Given the description of an element on the screen output the (x, y) to click on. 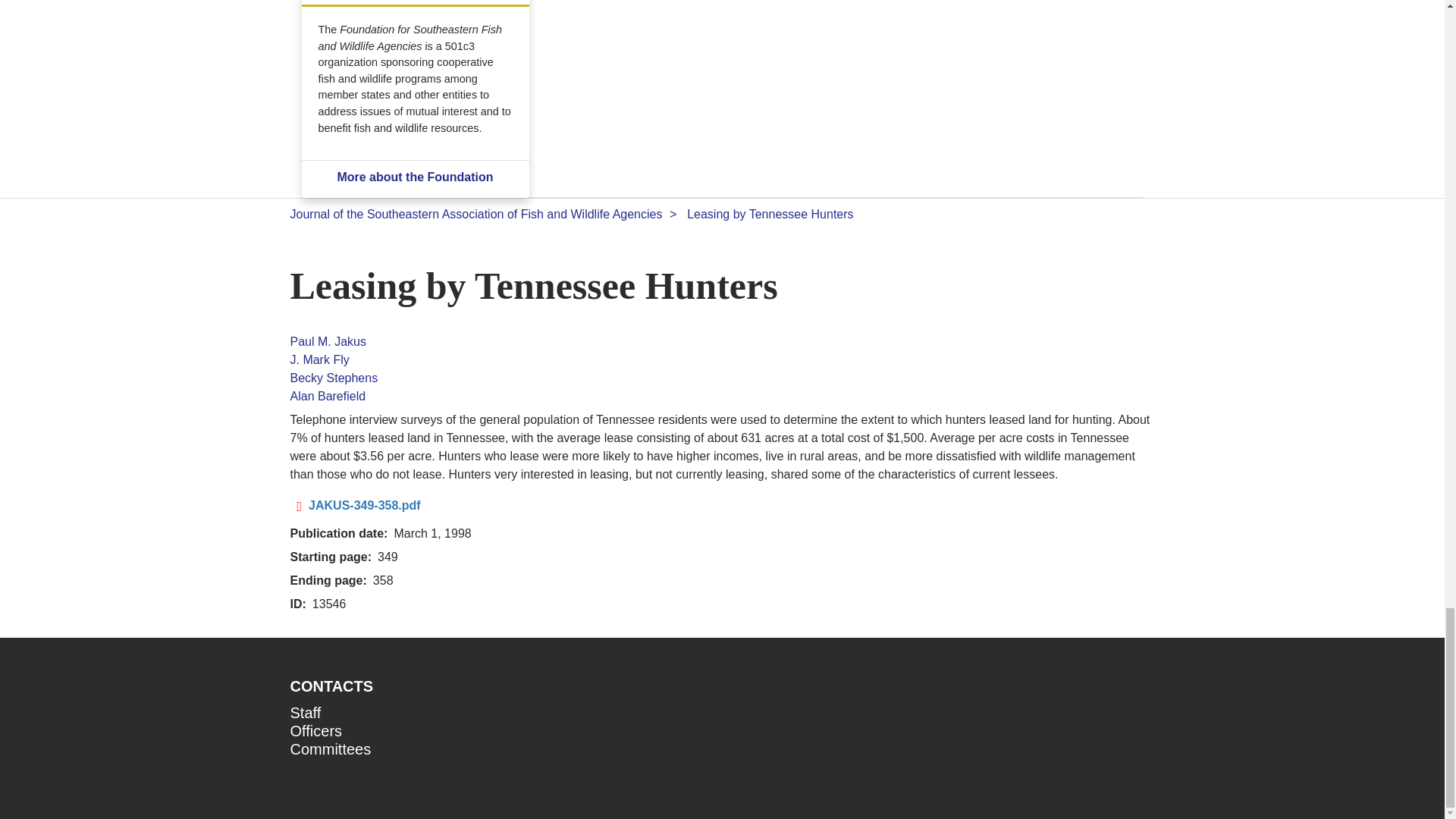
Open file in new window (364, 504)
